Given the description of an element on the screen output the (x, y) to click on. 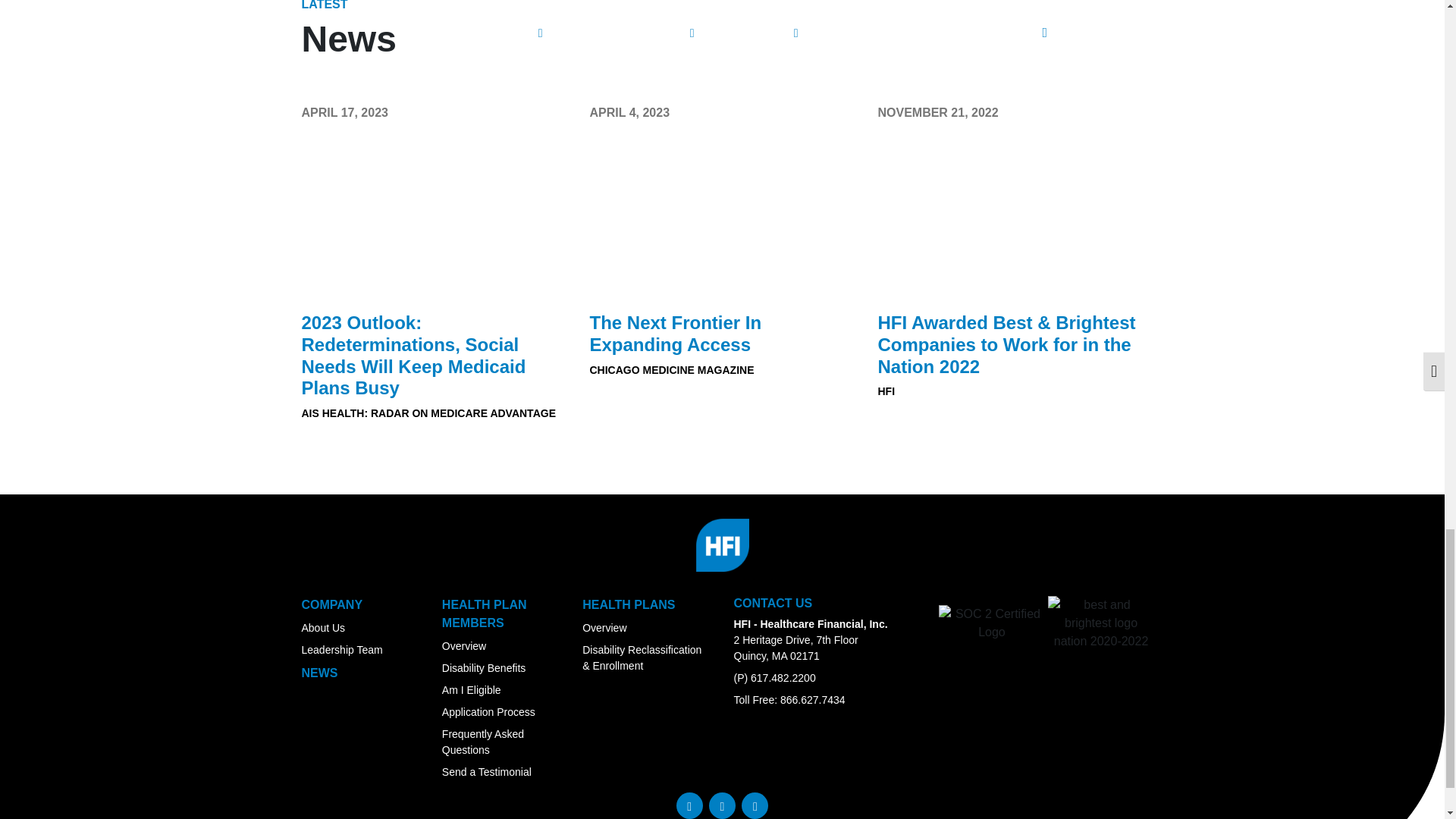
HEALTH PLAN MEMBERS (484, 613)
NEWS (319, 672)
Frequently Asked Questions (483, 741)
COMPANY (331, 604)
Overview (464, 645)
About Us (323, 627)
Am I Eligible (471, 689)
Send a Testimonial (486, 771)
Leadership Team (341, 649)
